Given the description of an element on the screen output the (x, y) to click on. 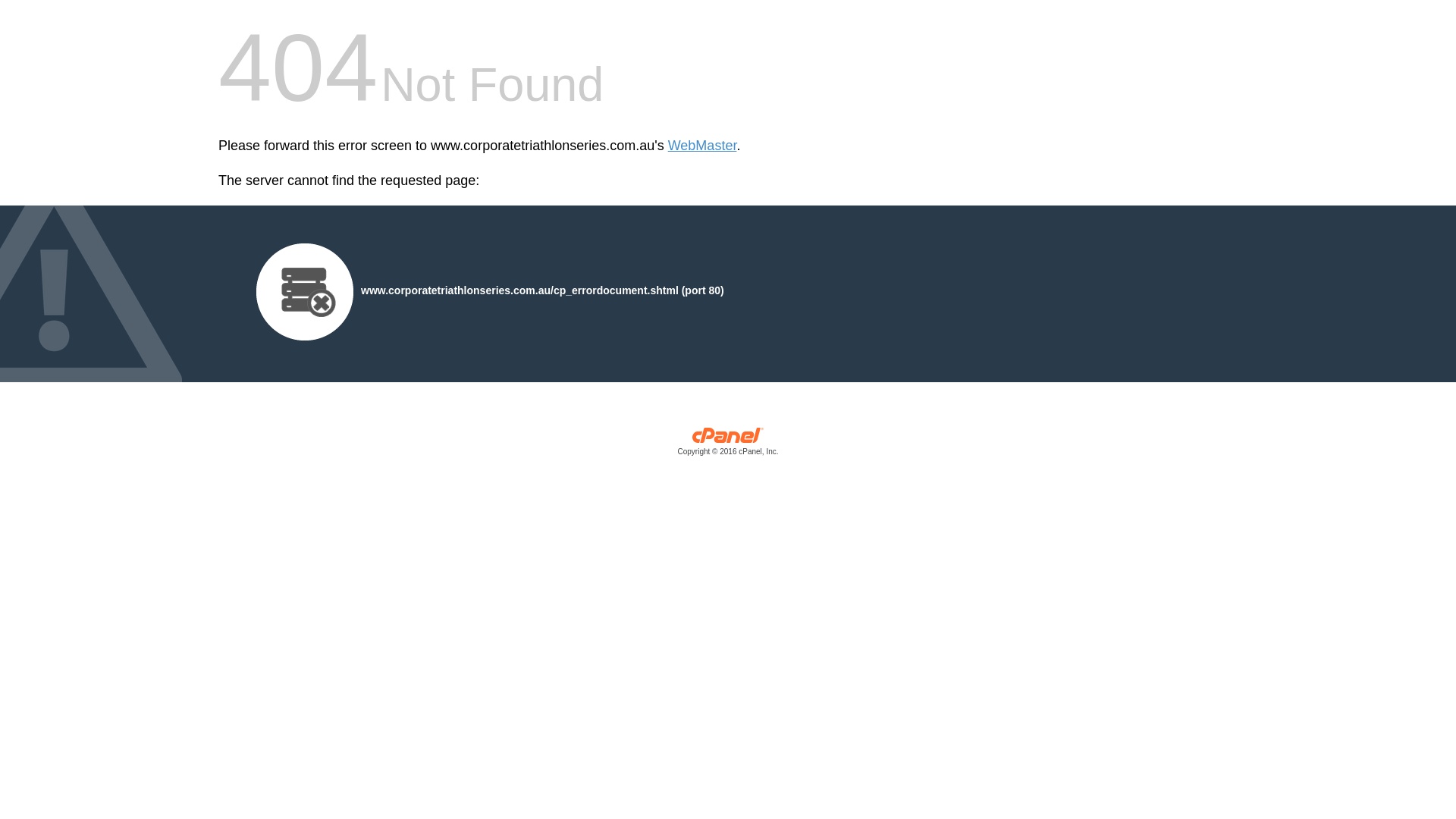
WebMaster Element type: text (702, 145)
